Given the description of an element on the screen output the (x, y) to click on. 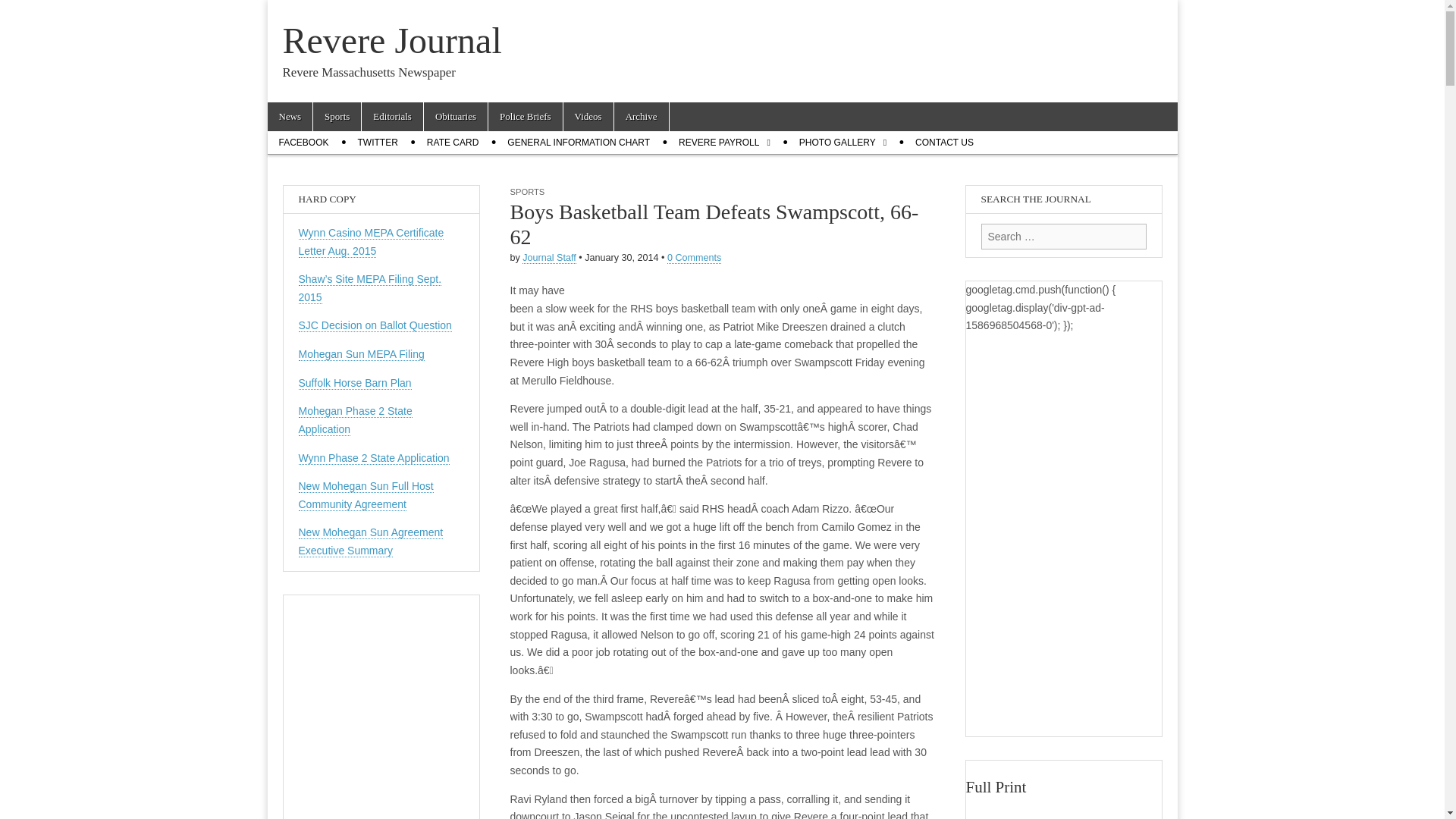
Videos (587, 116)
Journal Staff (548, 257)
News (289, 116)
Posts by Journal Staff (548, 257)
Obituaries (455, 116)
GENERAL INFORMATION CHART (578, 142)
0 Comments (693, 257)
PHOTO GALLERY (842, 142)
Wynn Casino MEPA Certificate Letter Aug. 2015 (371, 241)
